Given the description of an element on the screen output the (x, y) to click on. 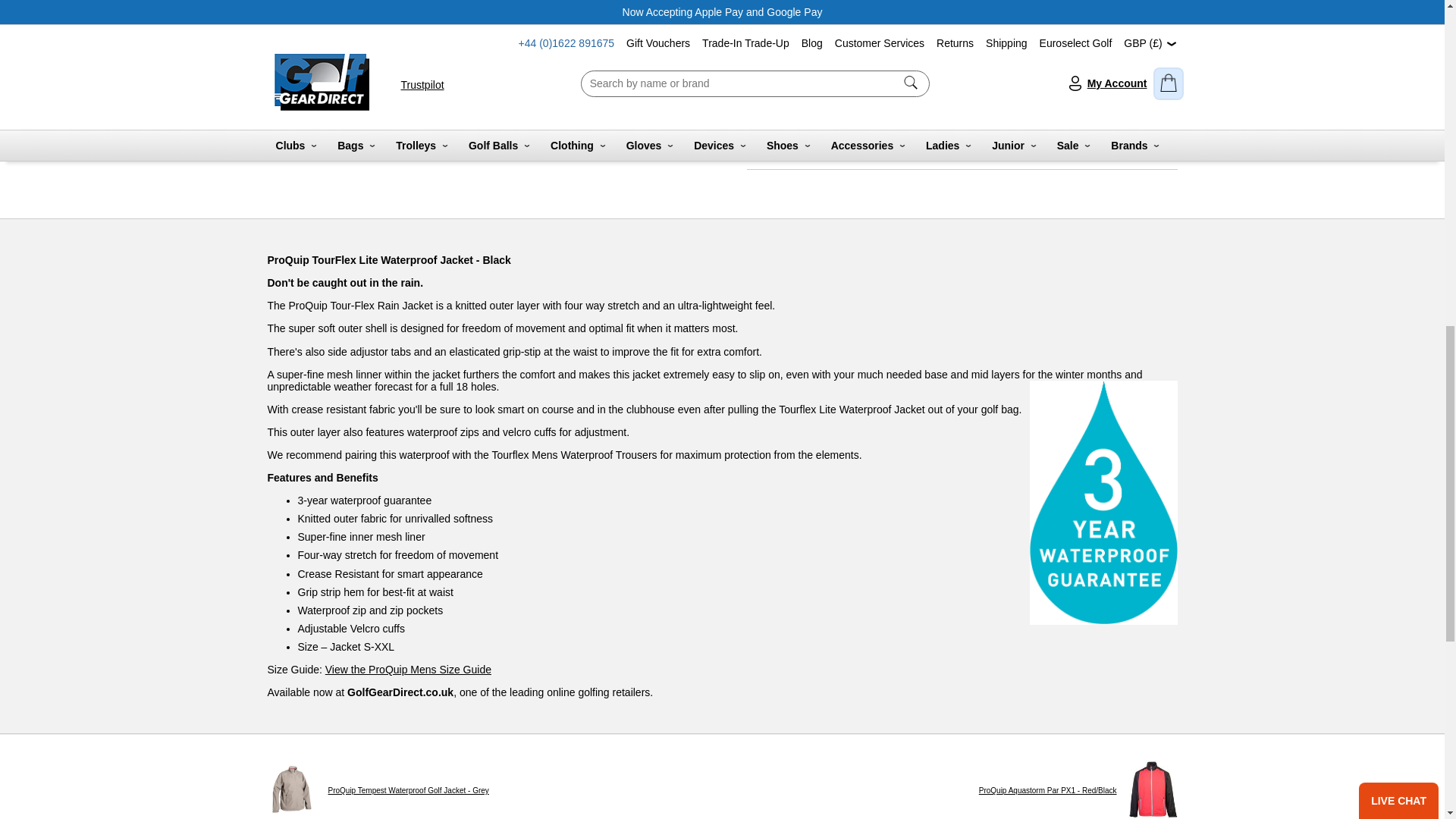
View the ProQuip Mens Size Guide (408, 669)
